Given the description of an element on the screen output the (x, y) to click on. 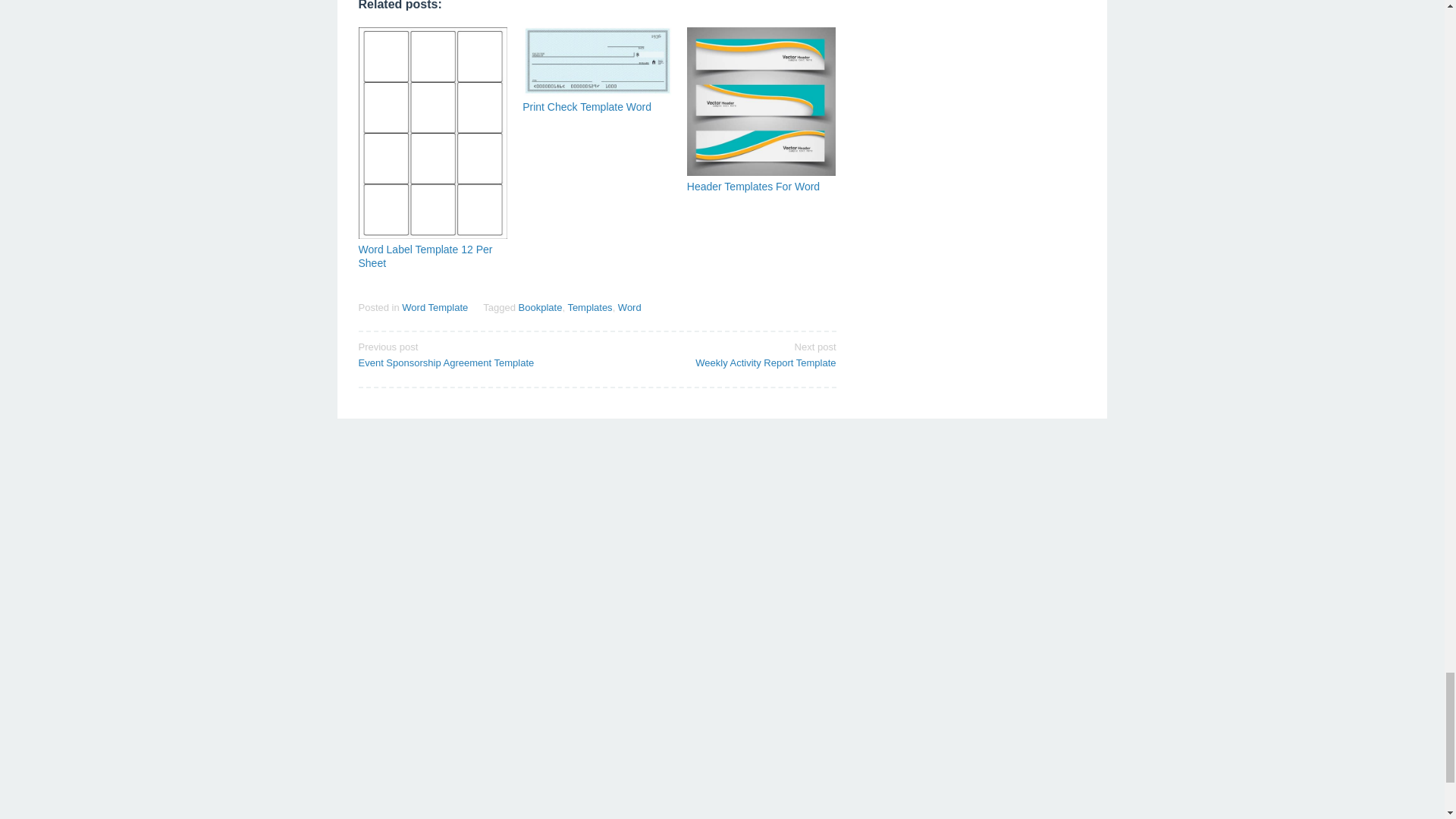
Templates (589, 307)
Header Templates For Word (753, 186)
Word Template (434, 307)
Word Label Template 12 Per Sheet (721, 353)
Permalink to: Word Label Template 12 Per Sheet (425, 256)
Word (425, 256)
Bookplate (472, 353)
Print Check Template Word (629, 307)
